Given the description of an element on the screen output the (x, y) to click on. 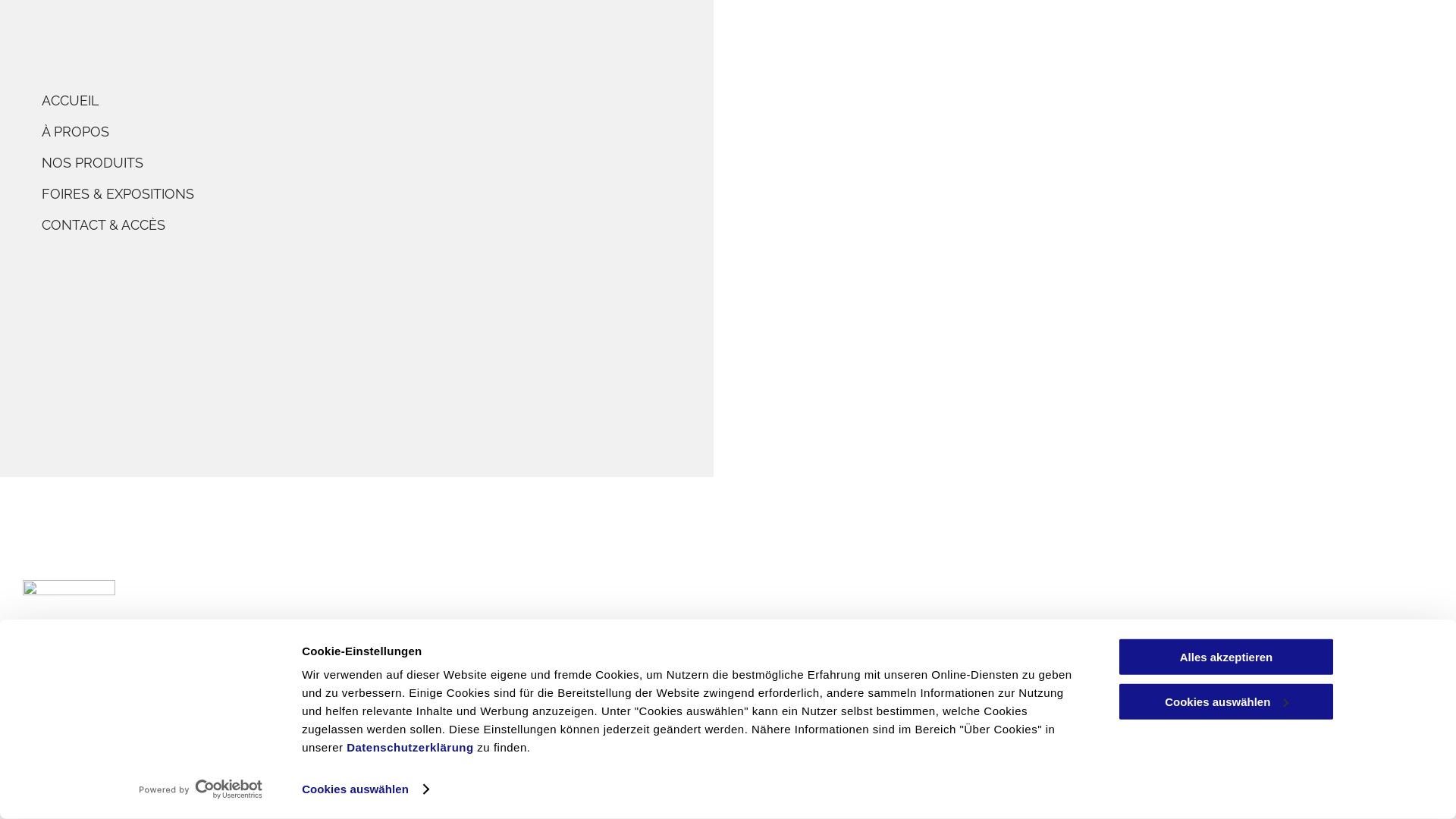
Alles akzeptieren Element type: text (1225, 656)
ACCUEIL Element type: text (386, 100)
BTA SA Element type: text (48, 643)
NOS PRODUITS Element type: text (386, 162)
FOIRES & EXPOSITIONS Element type: text (386, 193)
